Given the description of an element on the screen output the (x, y) to click on. 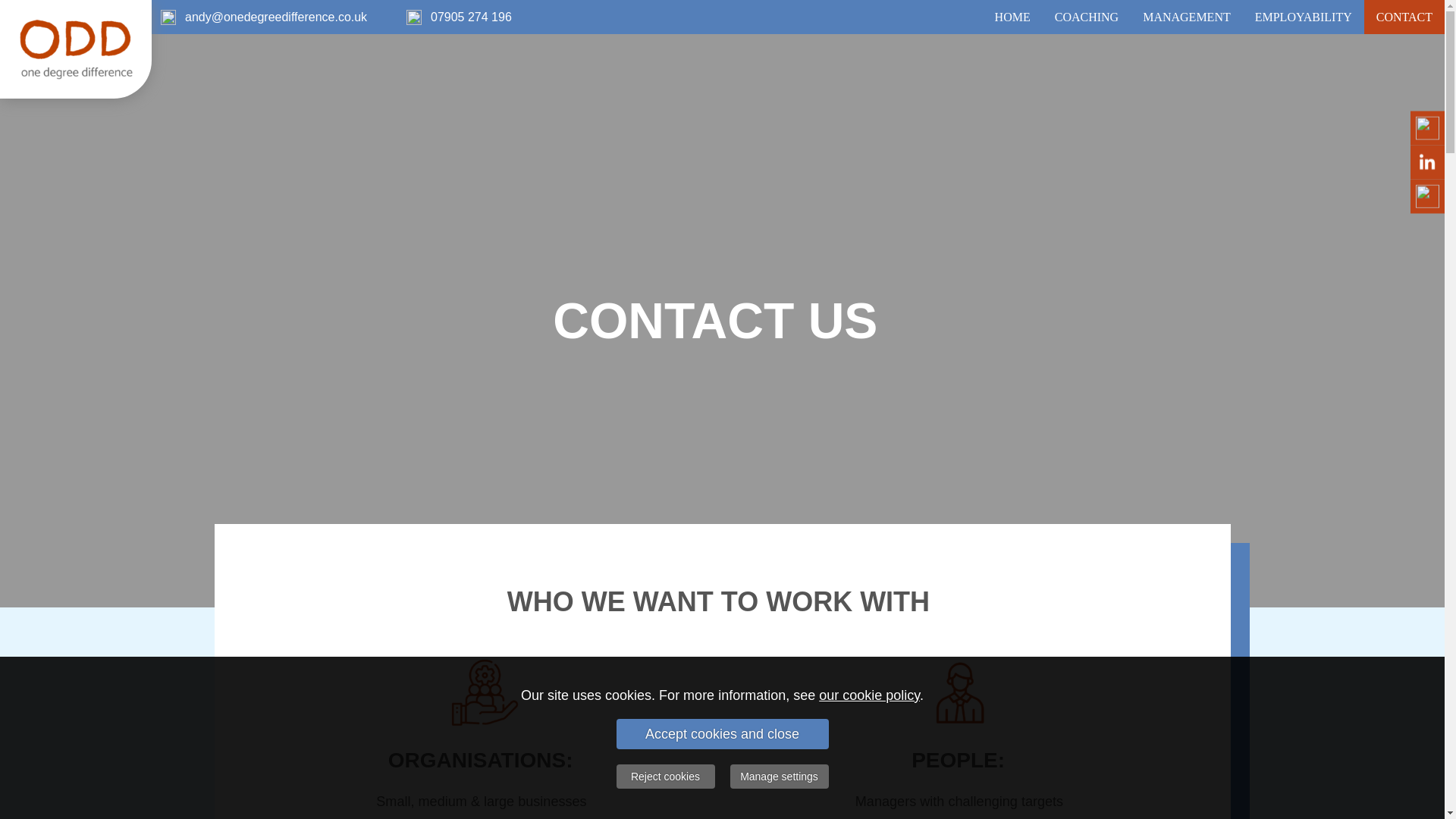
HOME (1012, 17)
MANAGEMENT (1187, 17)
our cookie policy (869, 694)
EMPLOYABILITY (1303, 17)
COACHING (1086, 17)
Manage settings (778, 776)
07905 274 196 (471, 16)
